Given the description of an element on the screen output the (x, y) to click on. 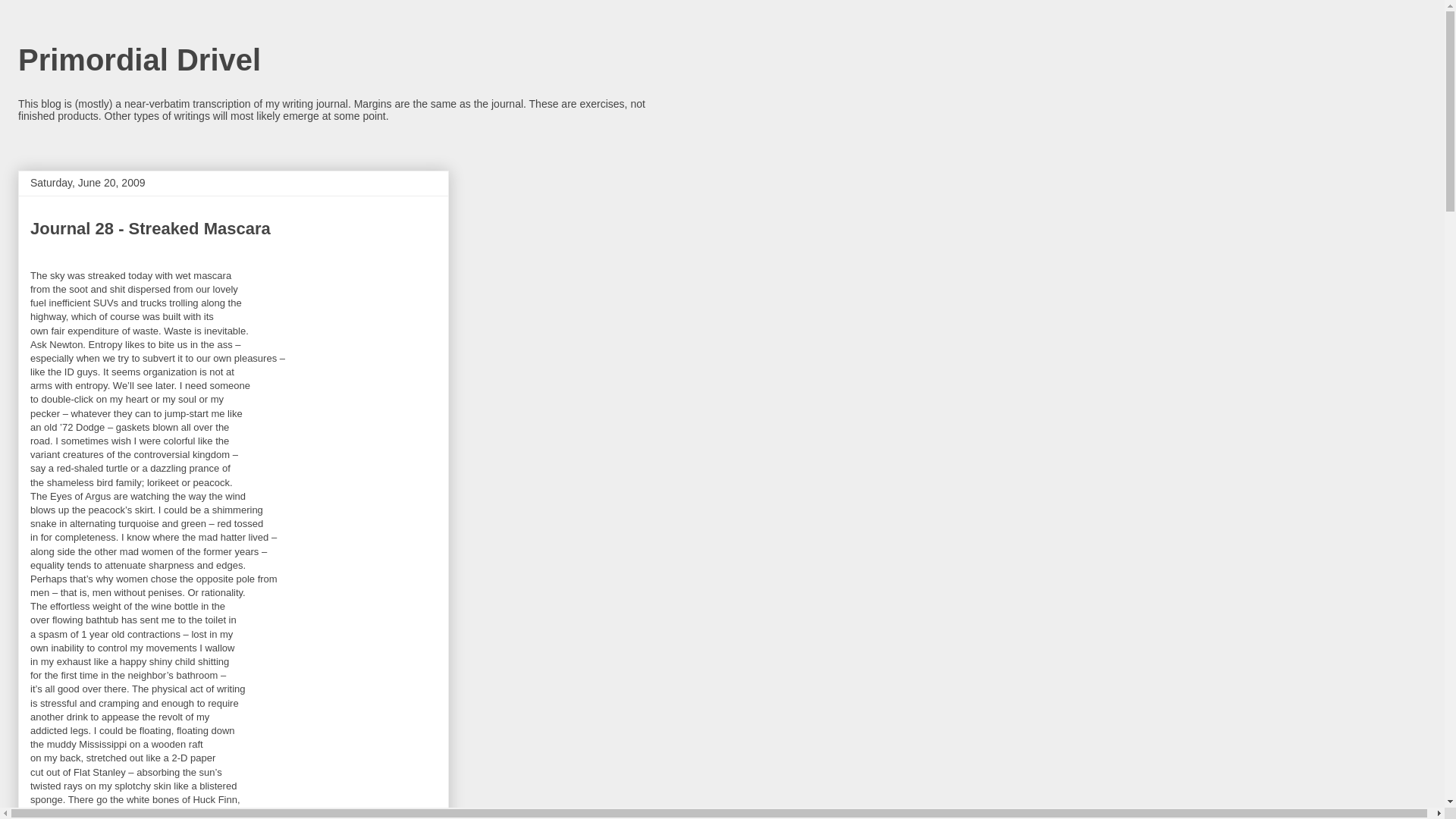
Primordial Drivel (138, 59)
